Given the description of an element on the screen output the (x, y) to click on. 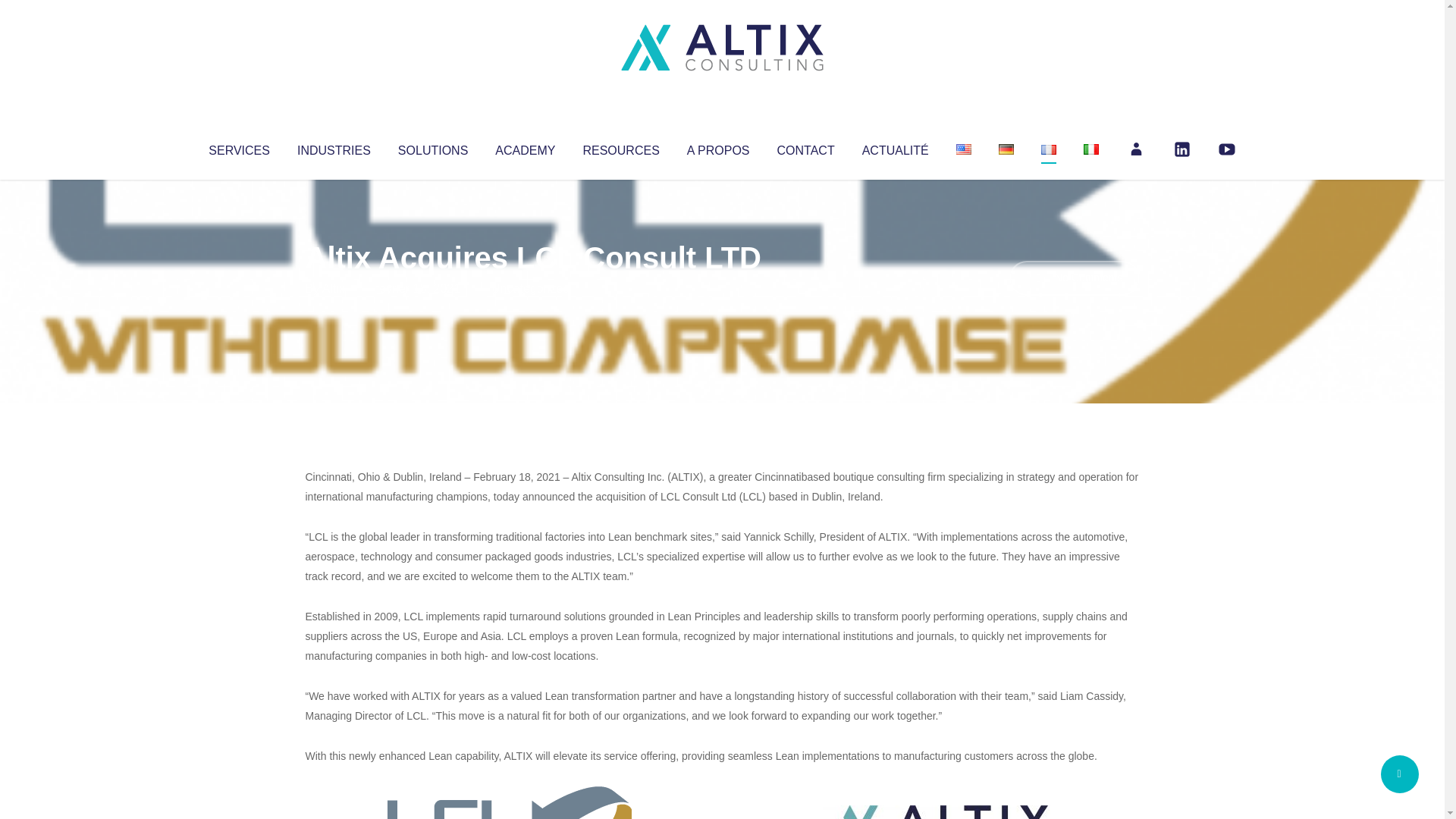
ACADEMY (524, 146)
Uncategorized (530, 287)
SERVICES (238, 146)
RESOURCES (620, 146)
No Comments (1073, 278)
INDUSTRIES (334, 146)
Altix (333, 287)
SOLUTIONS (432, 146)
Articles par Altix (333, 287)
A PROPOS (718, 146)
